Given the description of an element on the screen output the (x, y) to click on. 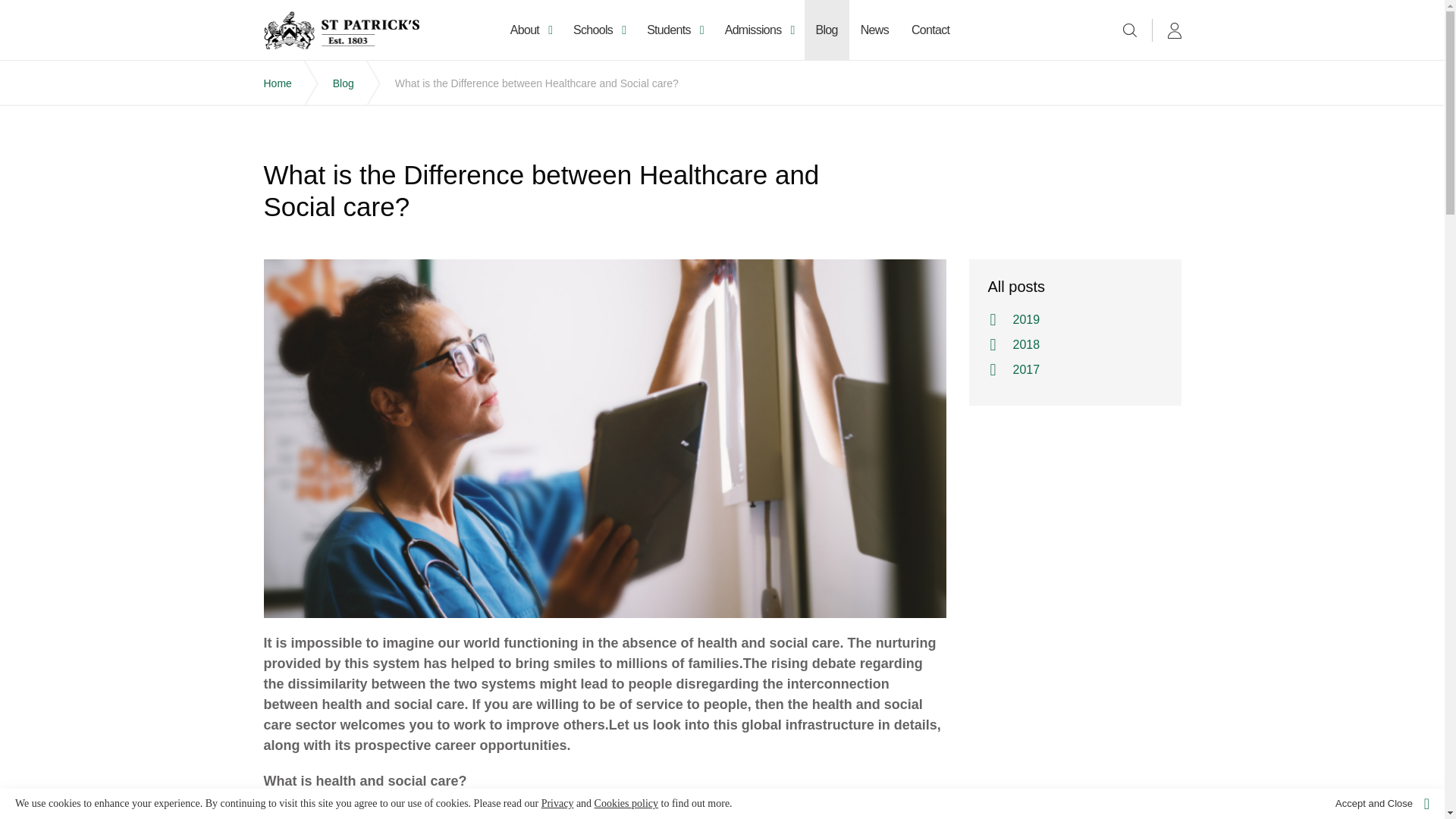
2019 (1072, 319)
Privacy Policy (557, 803)
Admissions (759, 30)
Students (673, 30)
About (530, 30)
Cookies policy (626, 803)
StPatrick (341, 30)
Skip to the content (721, 12)
All posts (1074, 286)
Contact (929, 30)
